Given the description of an element on the screen output the (x, y) to click on. 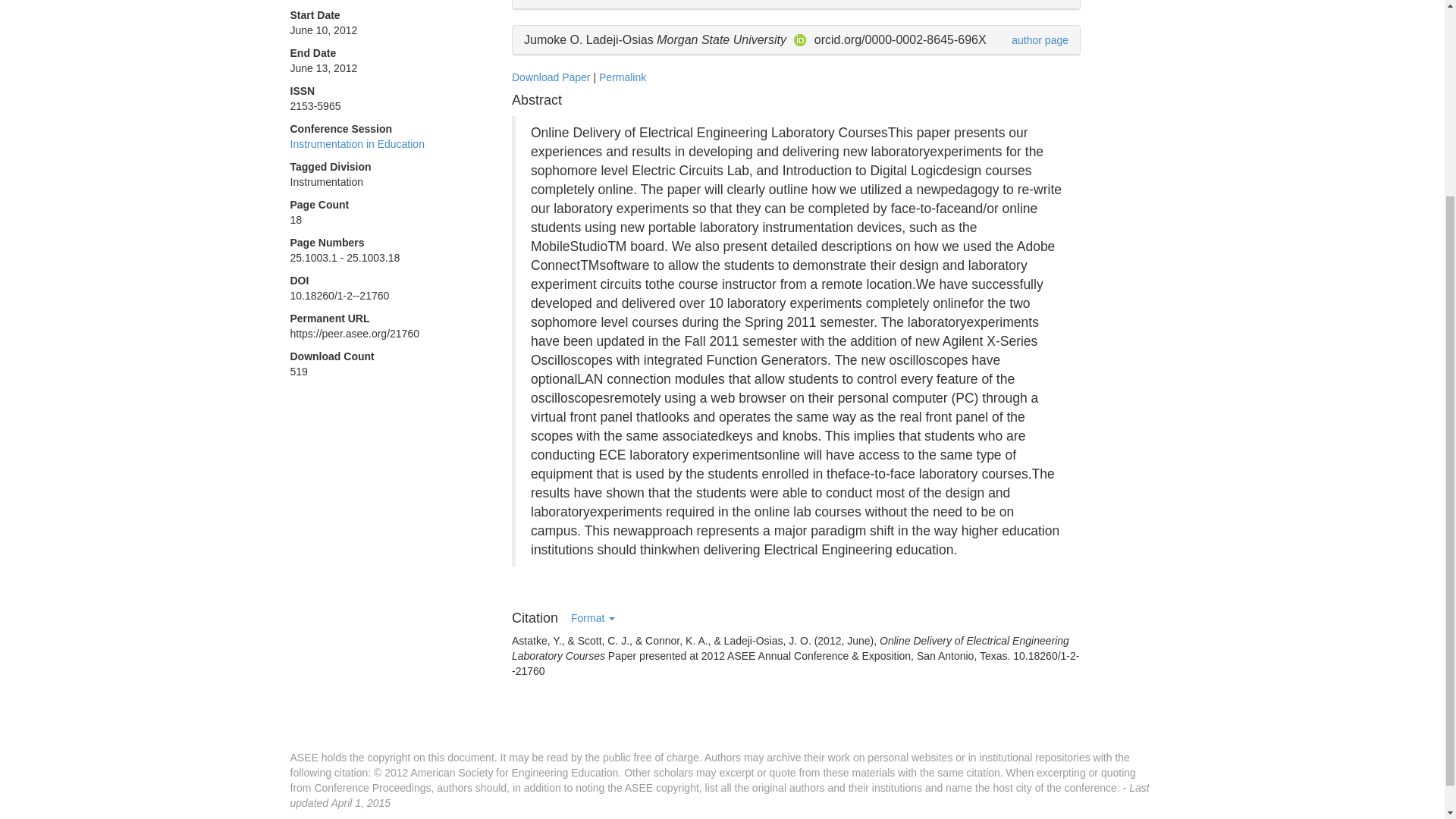
Instrumentation in Education (356, 143)
Permalink (622, 77)
Download Paper (551, 77)
author page (1039, 39)
Format (592, 618)
